Given the description of an element on the screen output the (x, y) to click on. 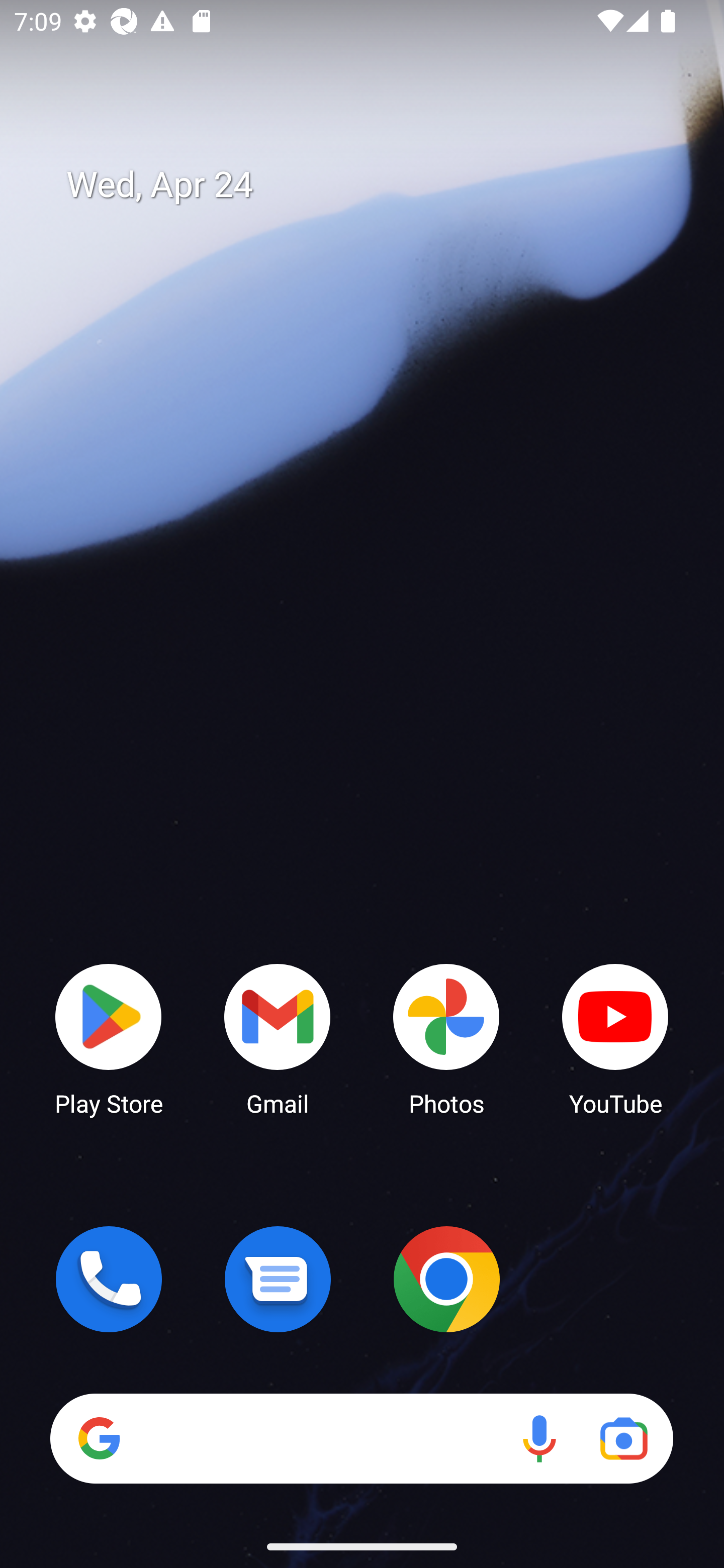
Wed, Apr 24 (375, 184)
Play Store (108, 1038)
Gmail (277, 1038)
Photos (445, 1038)
YouTube (615, 1038)
Phone (108, 1279)
Messages (277, 1279)
Chrome (446, 1279)
Search Voice search Google Lens (361, 1438)
Voice search (539, 1438)
Google Lens (623, 1438)
